Given the description of an element on the screen output the (x, y) to click on. 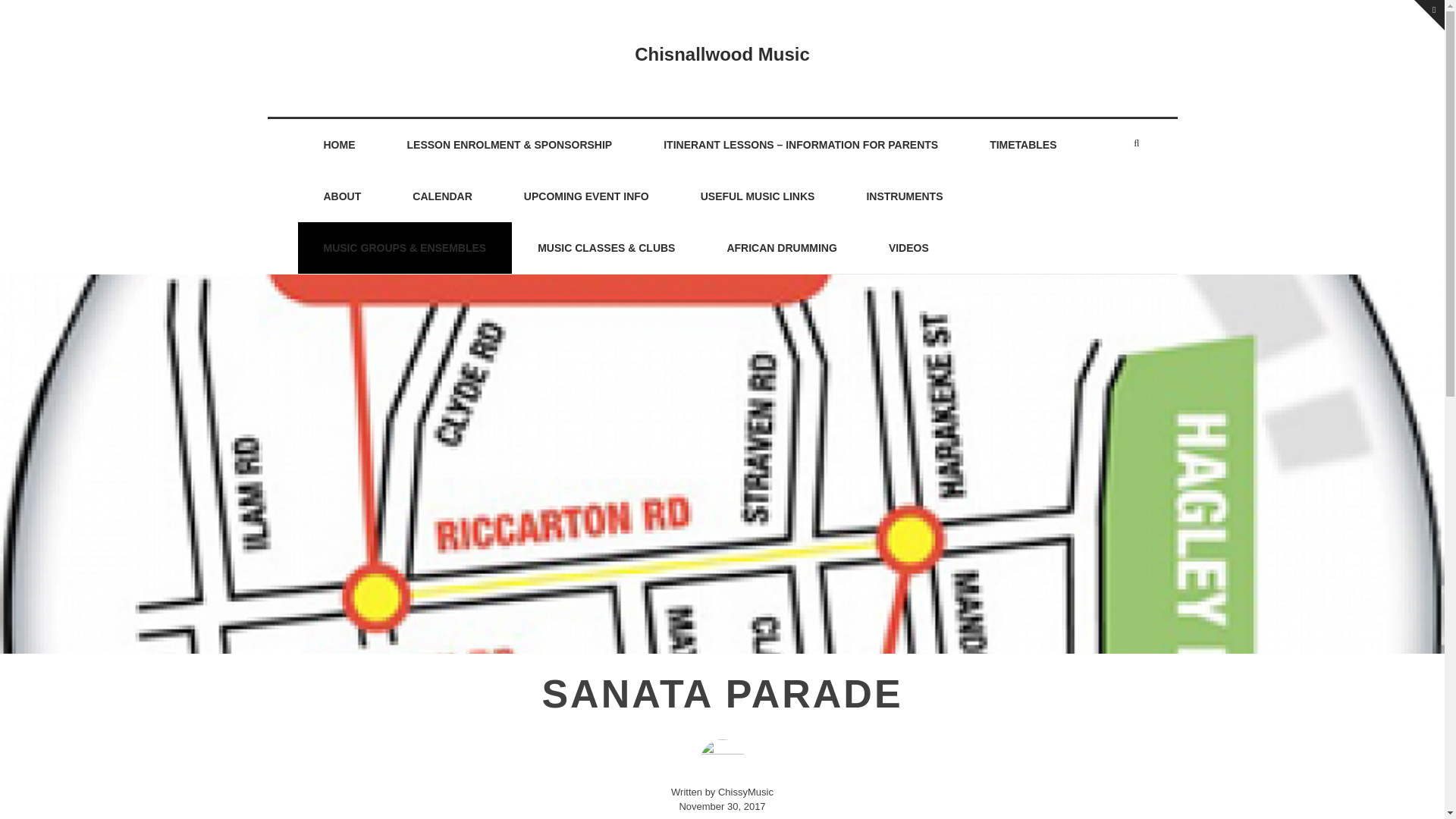
UPCOMING EVENT INFO (586, 195)
Search (36, 13)
ABOUT (342, 195)
TIMETABLES (1022, 144)
HOME (338, 144)
CALENDAR (442, 195)
INSTRUMENTS (904, 195)
USEFUL MUSIC LINKS (758, 195)
Chisnallwood Music (721, 54)
